Given the description of an element on the screen output the (x, y) to click on. 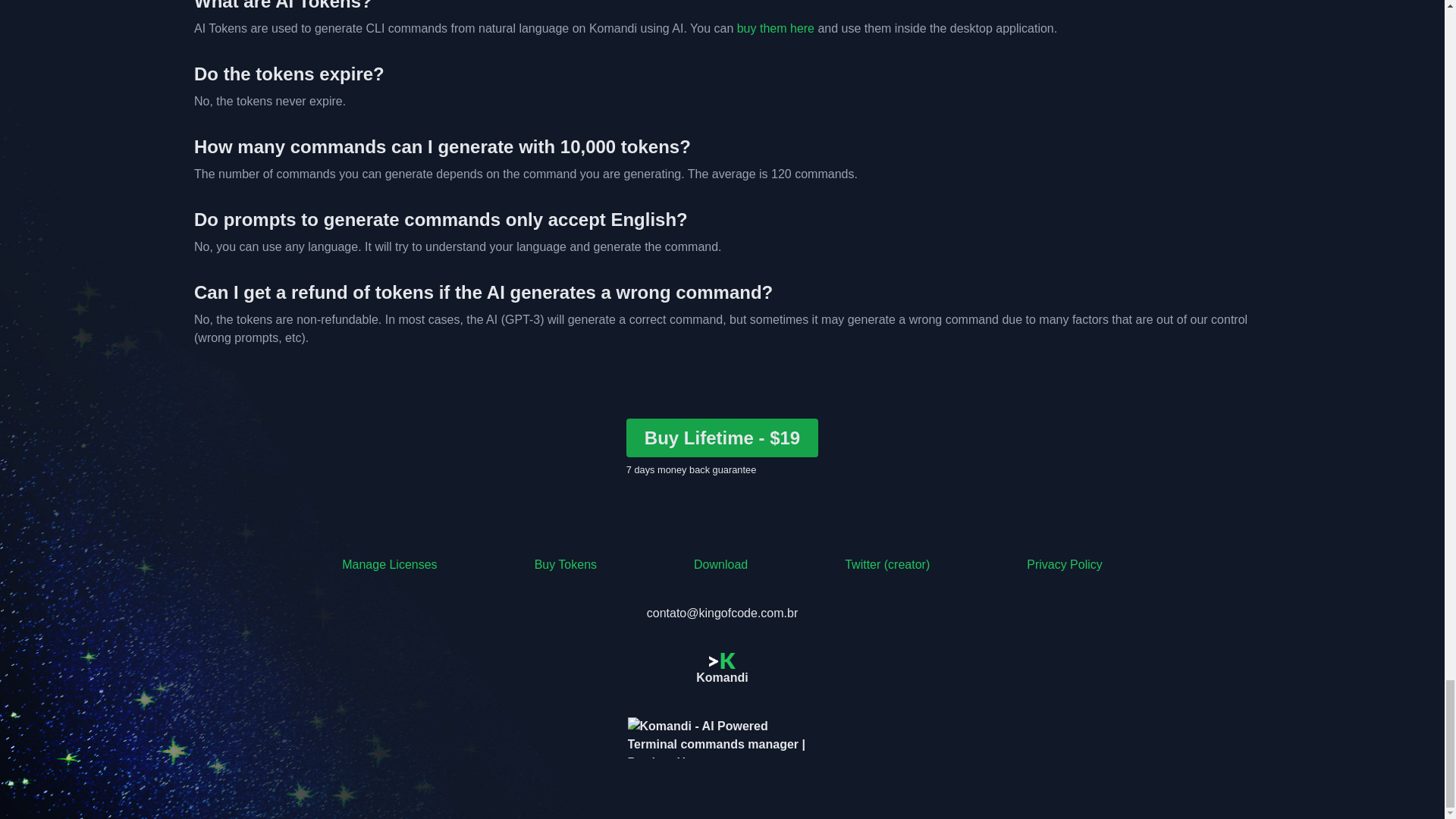
buy them here (774, 28)
Buy Tokens (565, 565)
Download (721, 565)
Privacy Policy (1064, 565)
Manage Licenses (389, 565)
